Given the description of an element on the screen output the (x, y) to click on. 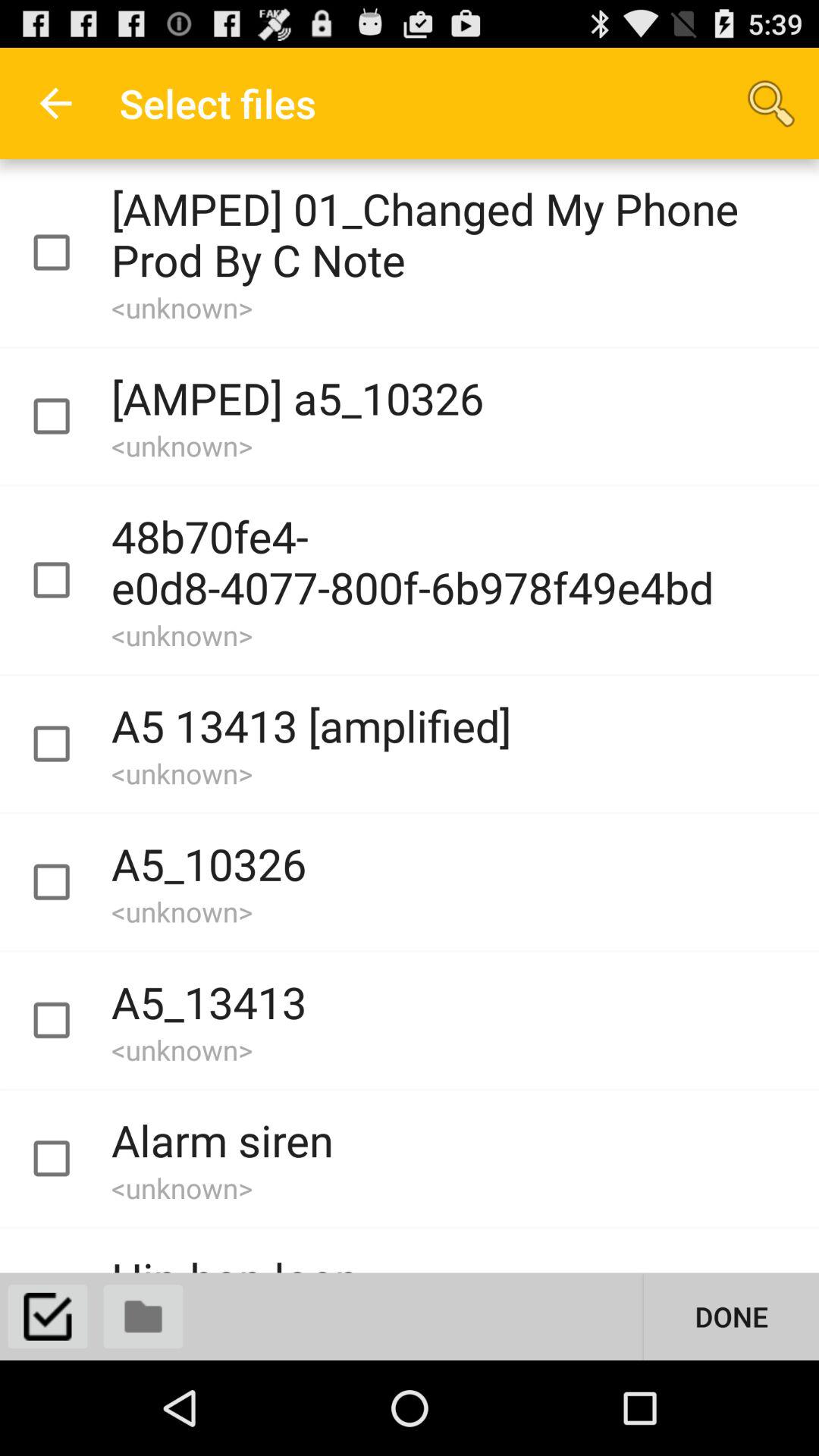
open folder (143, 1316)
